Given the description of an element on the screen output the (x, y) to click on. 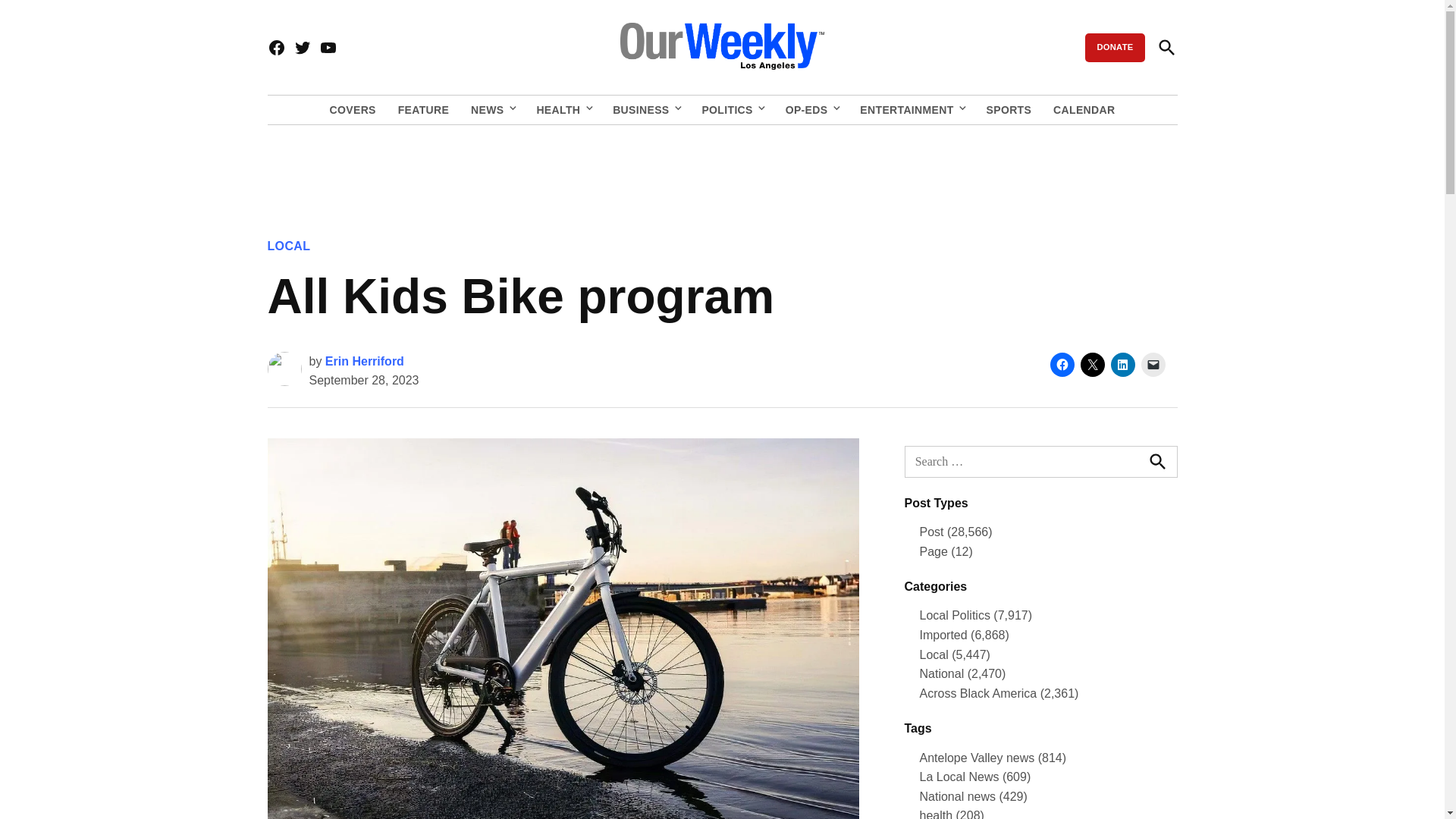
Click to share on Facebook (1061, 364)
Click to email a link to a friend (1152, 364)
Click to share on X (1091, 364)
Click to share on LinkedIn (1121, 364)
